Given the description of an element on the screen output the (x, y) to click on. 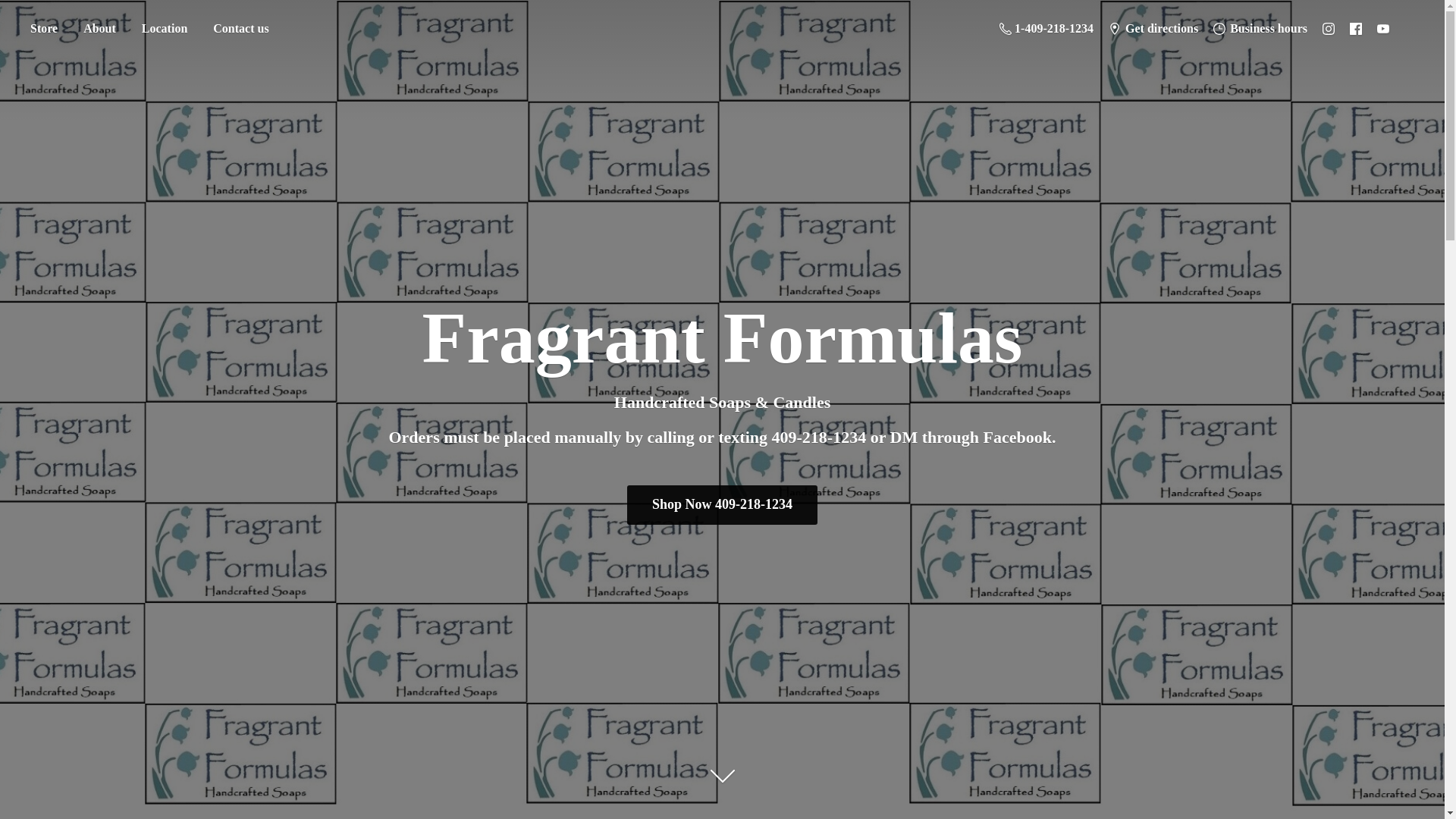
About (99, 29)
Business hours (1259, 28)
Location (164, 29)
Shop Now 409-218-1234 (722, 504)
Contact us (240, 29)
Get directions (1152, 28)
1-409-218-1234 (1045, 28)
Store (43, 29)
